Given the description of an element on the screen output the (x, y) to click on. 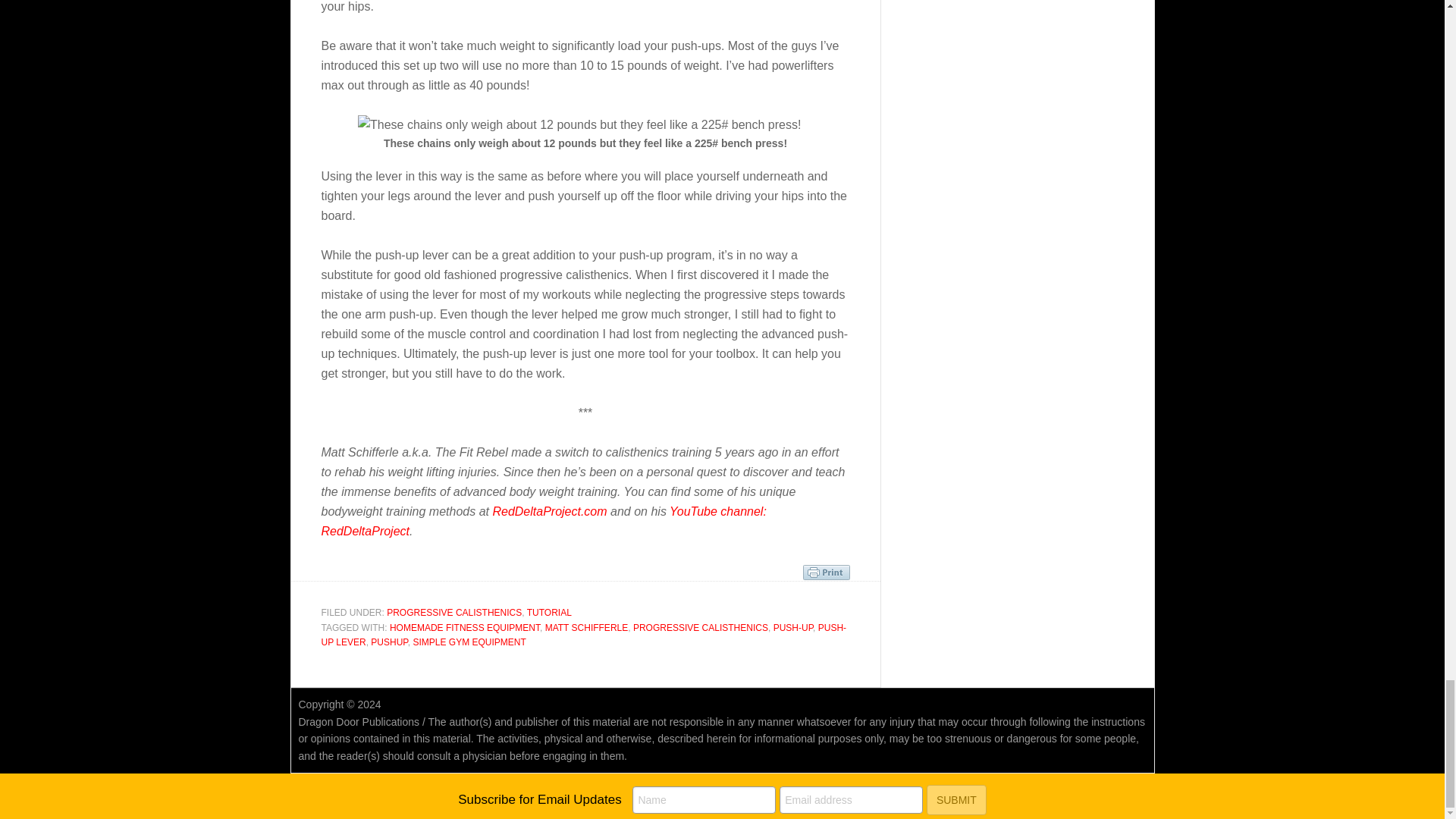
PROGRESSIVE CALISTHENICS (454, 612)
PUSH-UP (792, 627)
PROGRESSIVE CALISTHENICS (700, 627)
YouTube channel: RedDeltaProject (544, 521)
PUSH-UP LEVER (584, 635)
TUTORIAL (549, 612)
SIMPLE GYM EQUIPMENT (468, 642)
RedDeltaProject.com (549, 511)
MATT SCHIFFERLE (586, 627)
PUSHUP (389, 642)
